Given the description of an element on the screen output the (x, y) to click on. 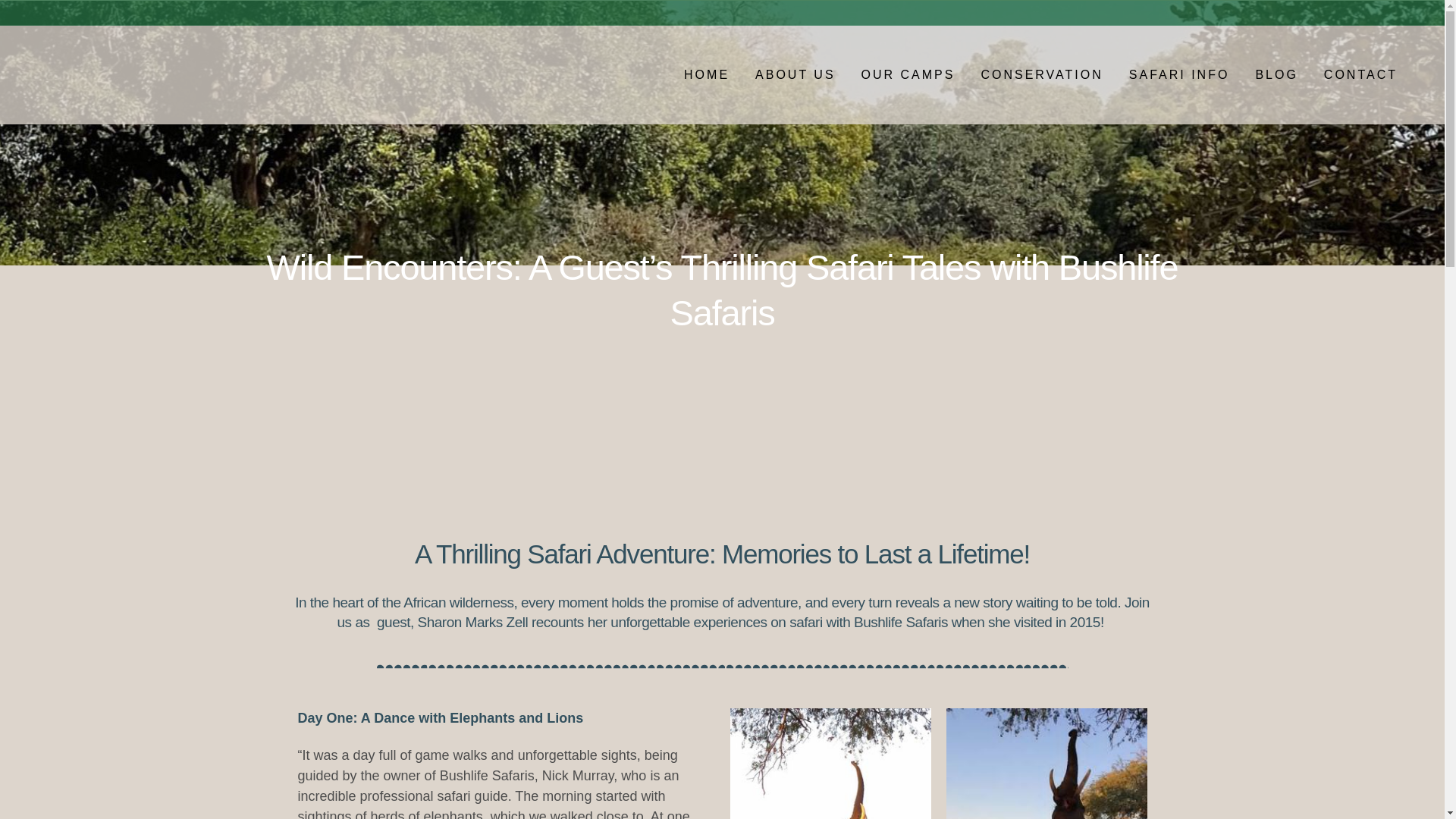
CONSERVATION (1041, 74)
SAFARI INFO (1179, 74)
OUR CAMPS (908, 74)
ABOUT US (795, 74)
CONTACT (1360, 74)
